Given the description of an element on the screen output the (x, y) to click on. 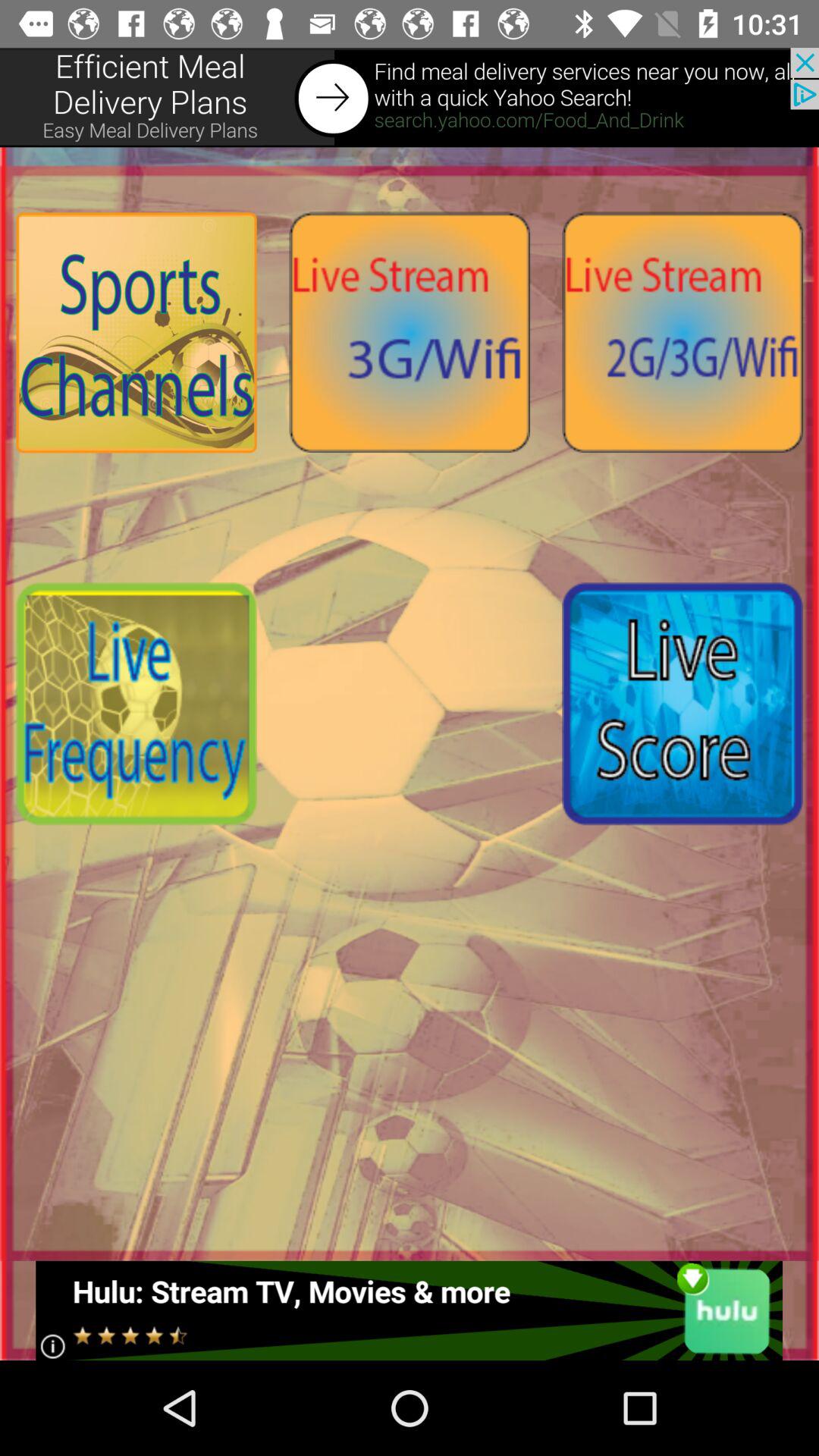
go to live stream 2g/3g/wifi (682, 332)
